Given the description of an element on the screen output the (x, y) to click on. 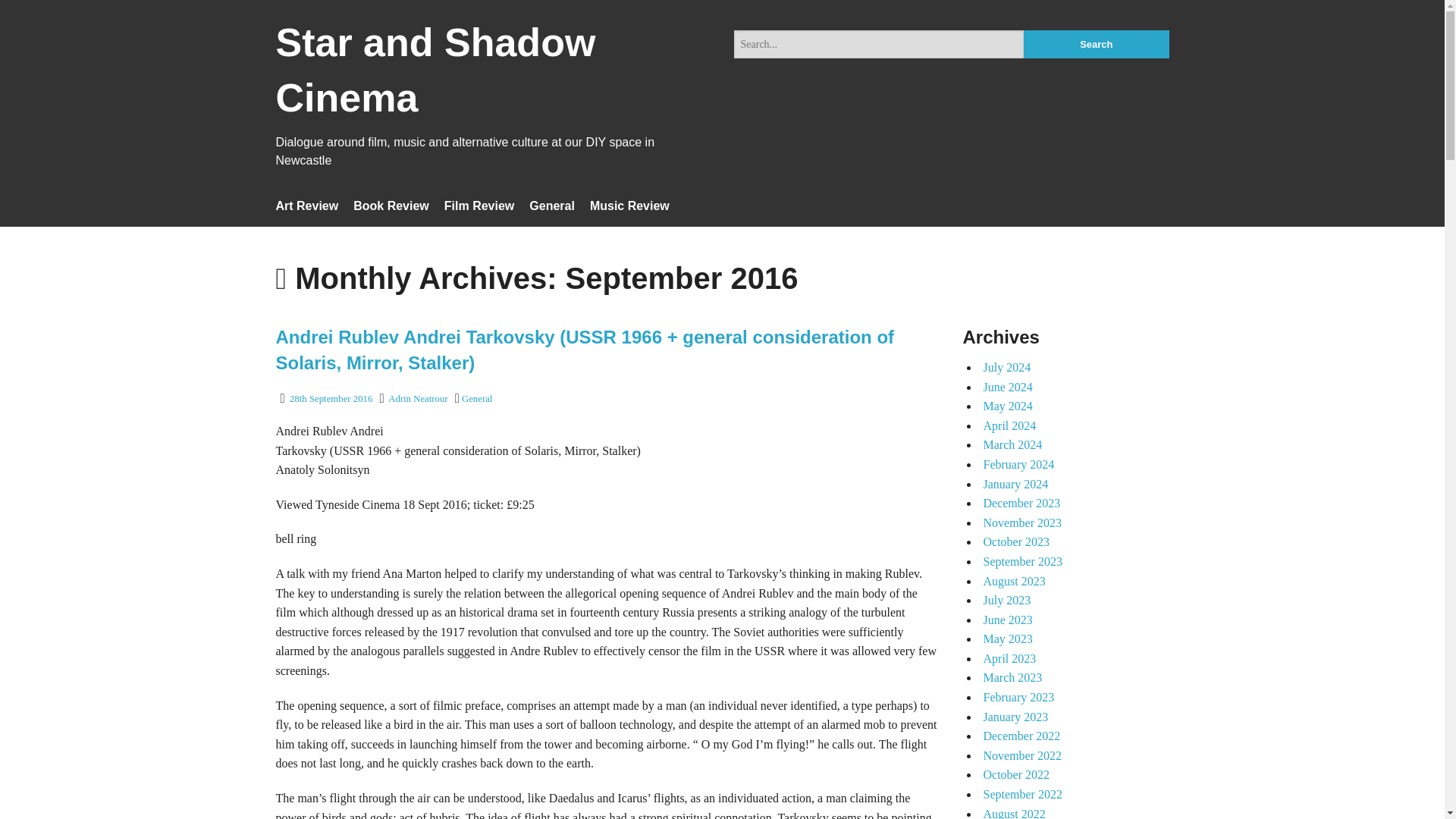
June 2023 (1007, 619)
May 2024 (1007, 405)
Star and Shadow Cinema (435, 79)
General (552, 206)
April 2024 (1008, 425)
August 2023 (1013, 581)
Art Review (307, 206)
July 2024 (1006, 367)
December 2022 (1020, 735)
February 2023 (1018, 697)
Star and Shadow Cinema (435, 79)
May 2023 (1007, 638)
Adrin Neatrour (418, 398)
Film Review (478, 206)
Search for: (879, 44)
